Given the description of an element on the screen output the (x, y) to click on. 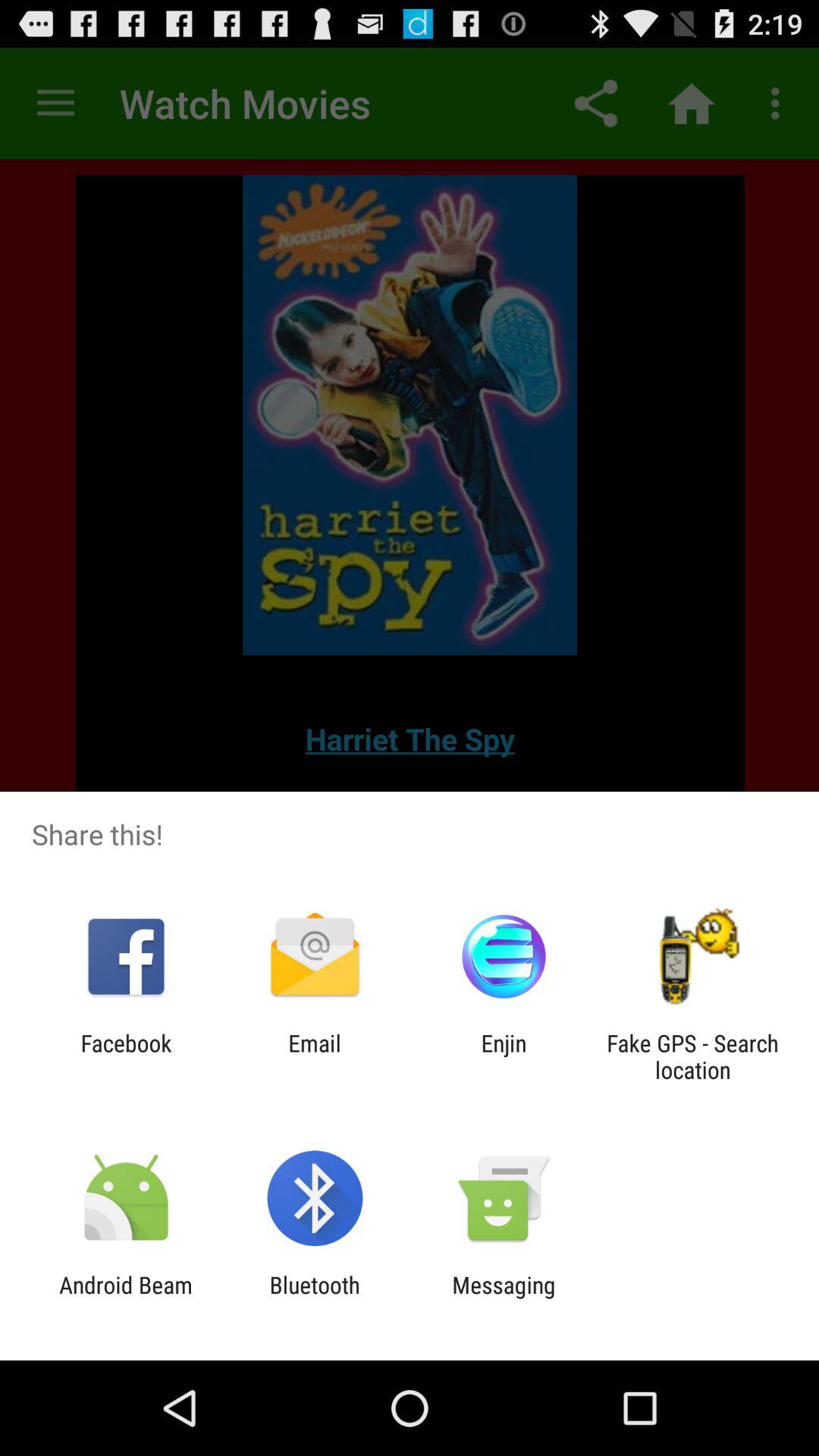
flip until the fake gps search (692, 1056)
